Given the description of an element on the screen output the (x, y) to click on. 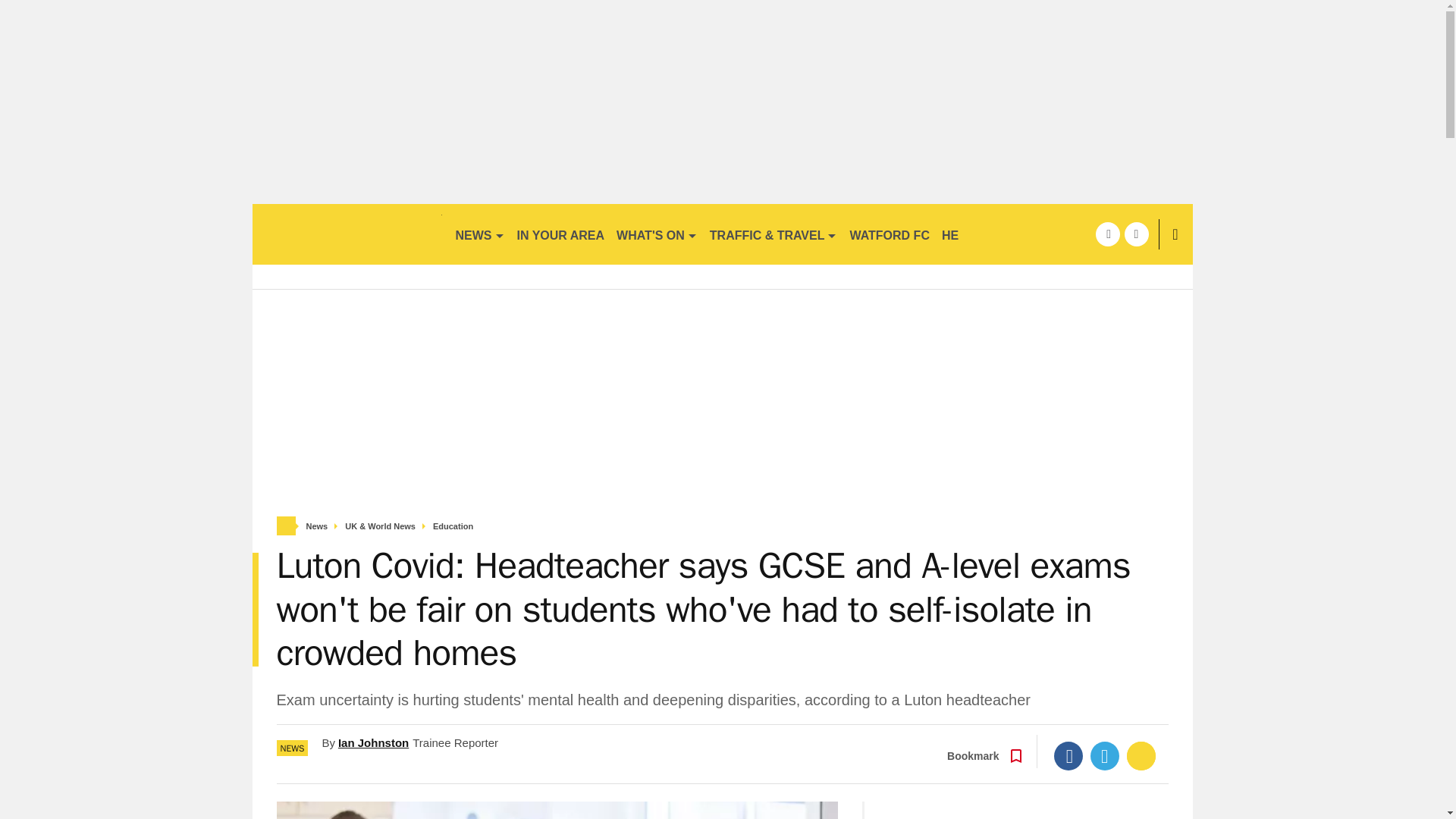
WHAT'S ON (656, 233)
NEWS (479, 233)
WATFORD FC (888, 233)
hertfordshiremercury (346, 233)
facebook (1106, 233)
HEMEL HEMPSTEAD (1003, 233)
Twitter (1104, 756)
twitter (1136, 233)
IN YOUR AREA (561, 233)
Facebook (1068, 756)
